Given the description of an element on the screen output the (x, y) to click on. 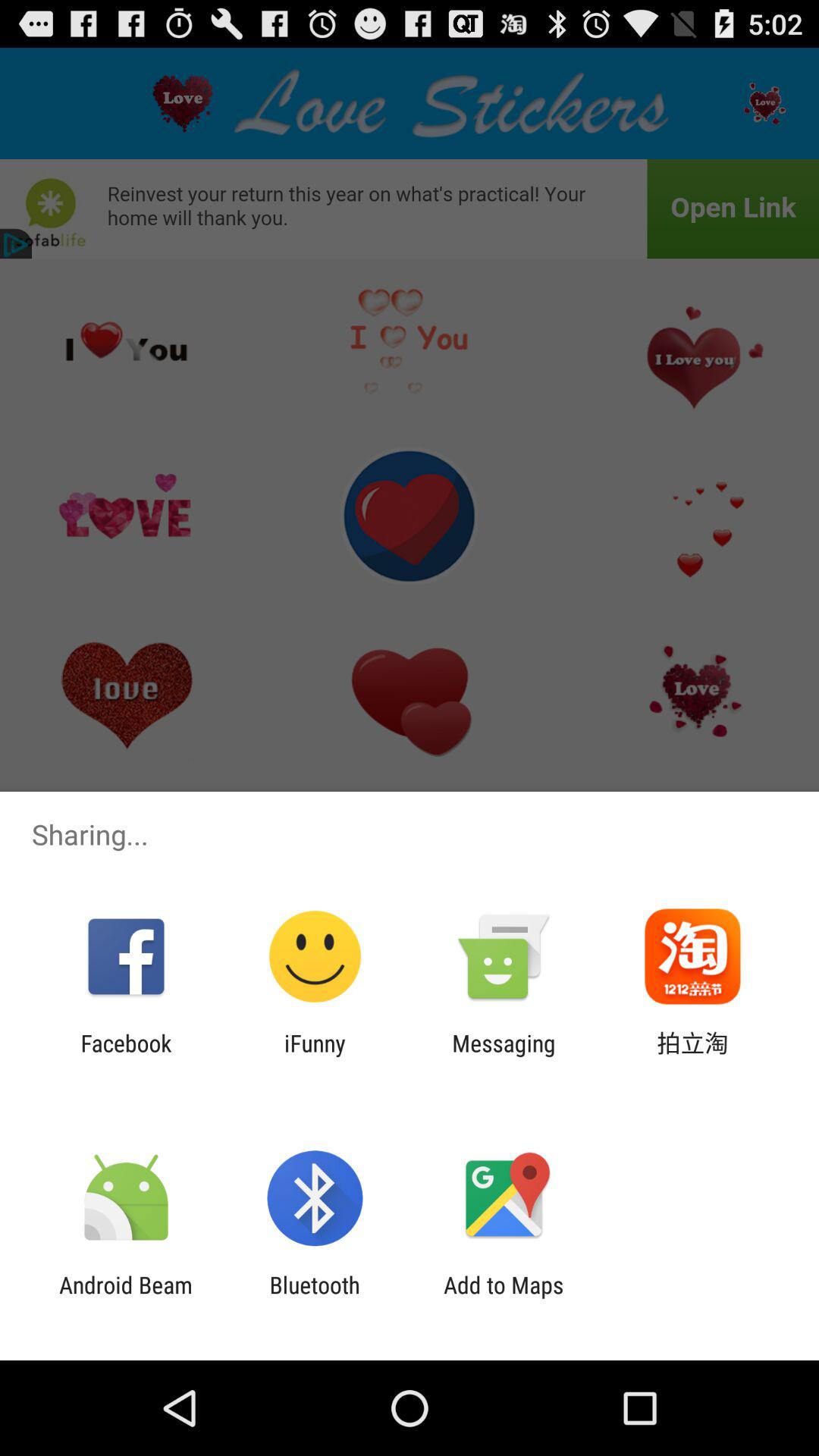
turn off the icon next to messaging (692, 1056)
